Given the description of an element on the screen output the (x, y) to click on. 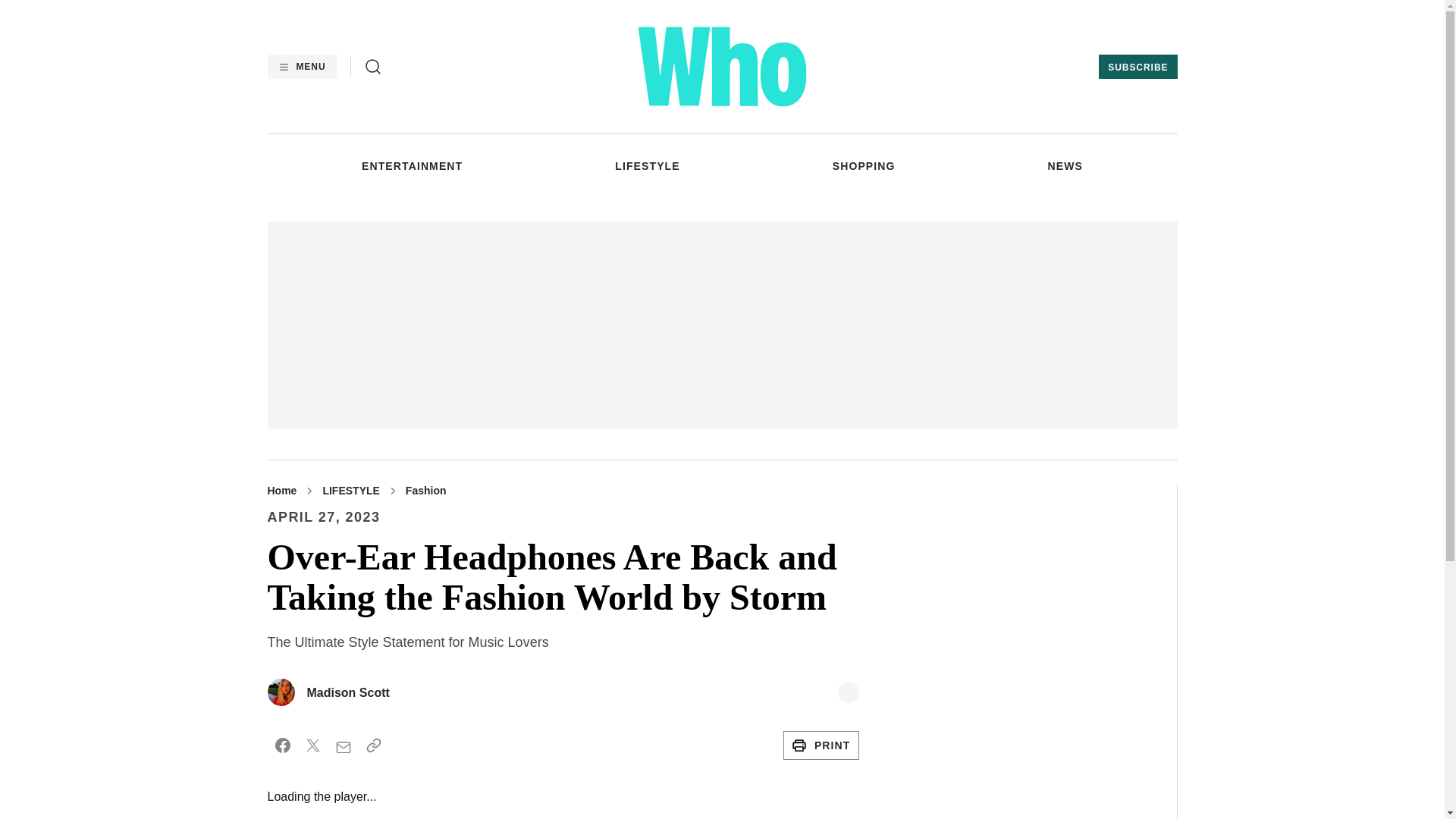
MENU (301, 66)
NEWS (1065, 165)
SHOPPING (863, 165)
SUBSCRIBE (1137, 66)
ENTERTAINMENT (412, 165)
LIFESTYLE (646, 165)
